Given the description of an element on the screen output the (x, y) to click on. 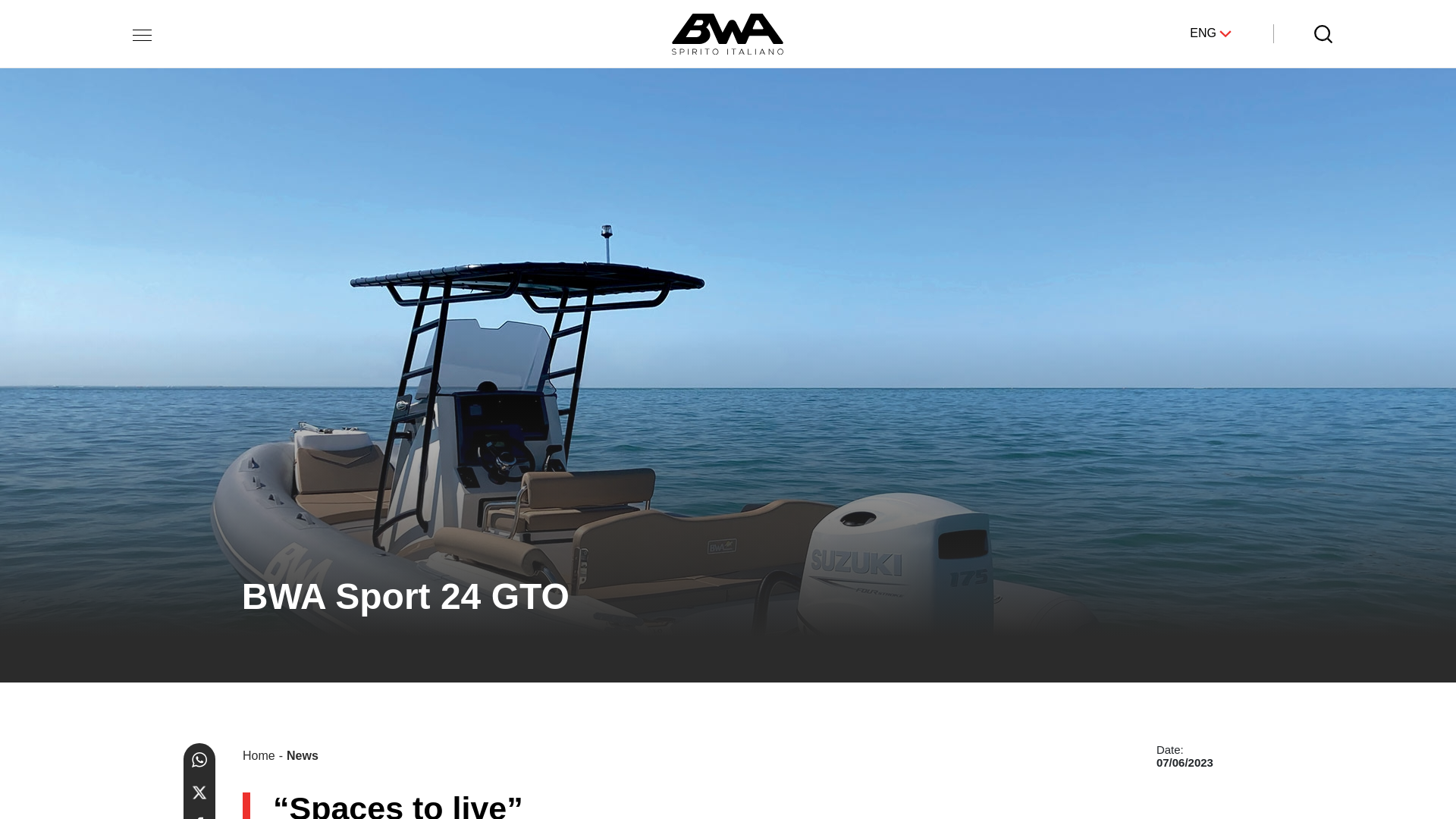
News (302, 755)
Home (259, 755)
